Given the description of an element on the screen output the (x, y) to click on. 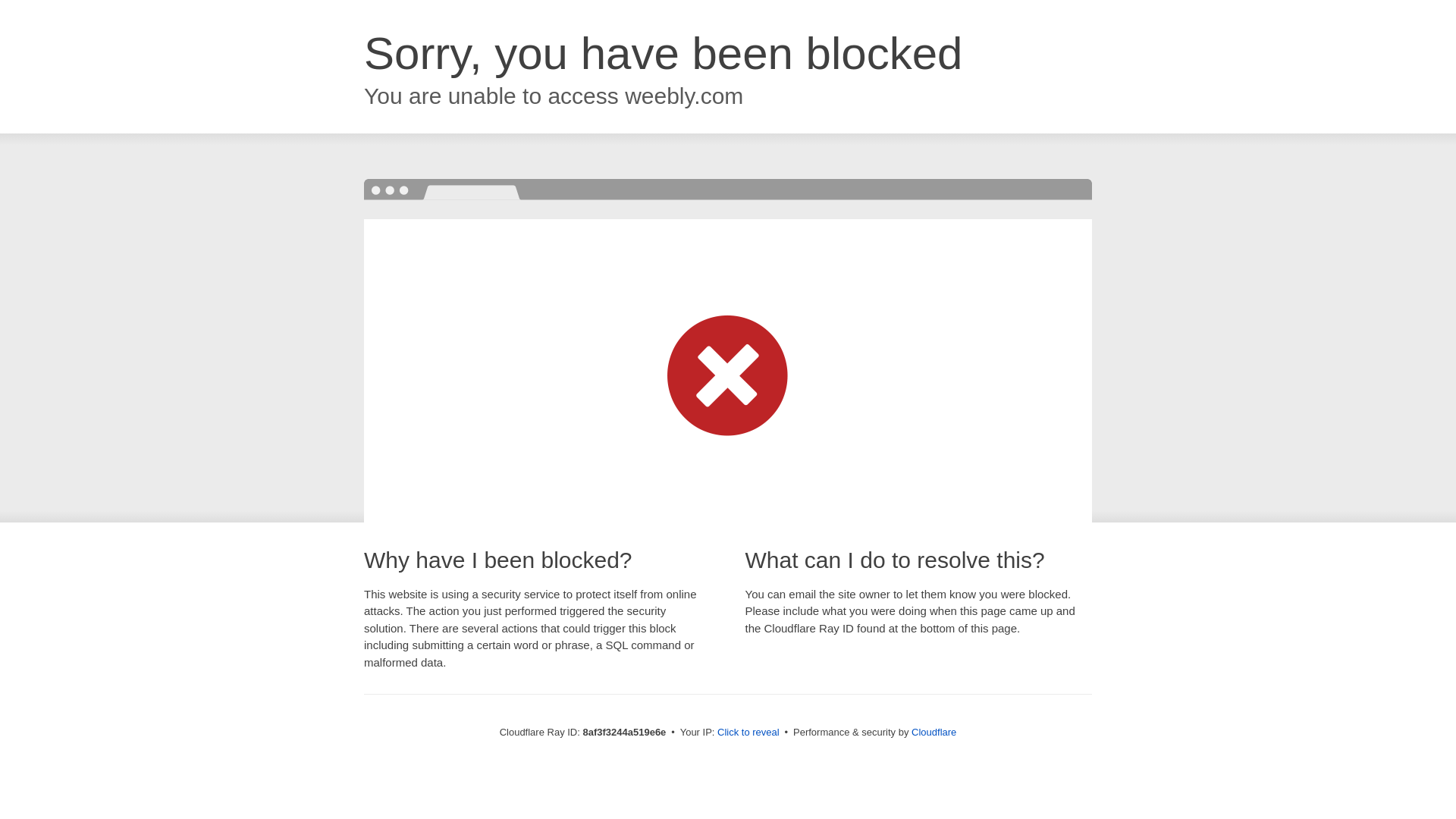
Click to reveal (747, 732)
Cloudflare (933, 731)
